Given the description of an element on the screen output the (x, y) to click on. 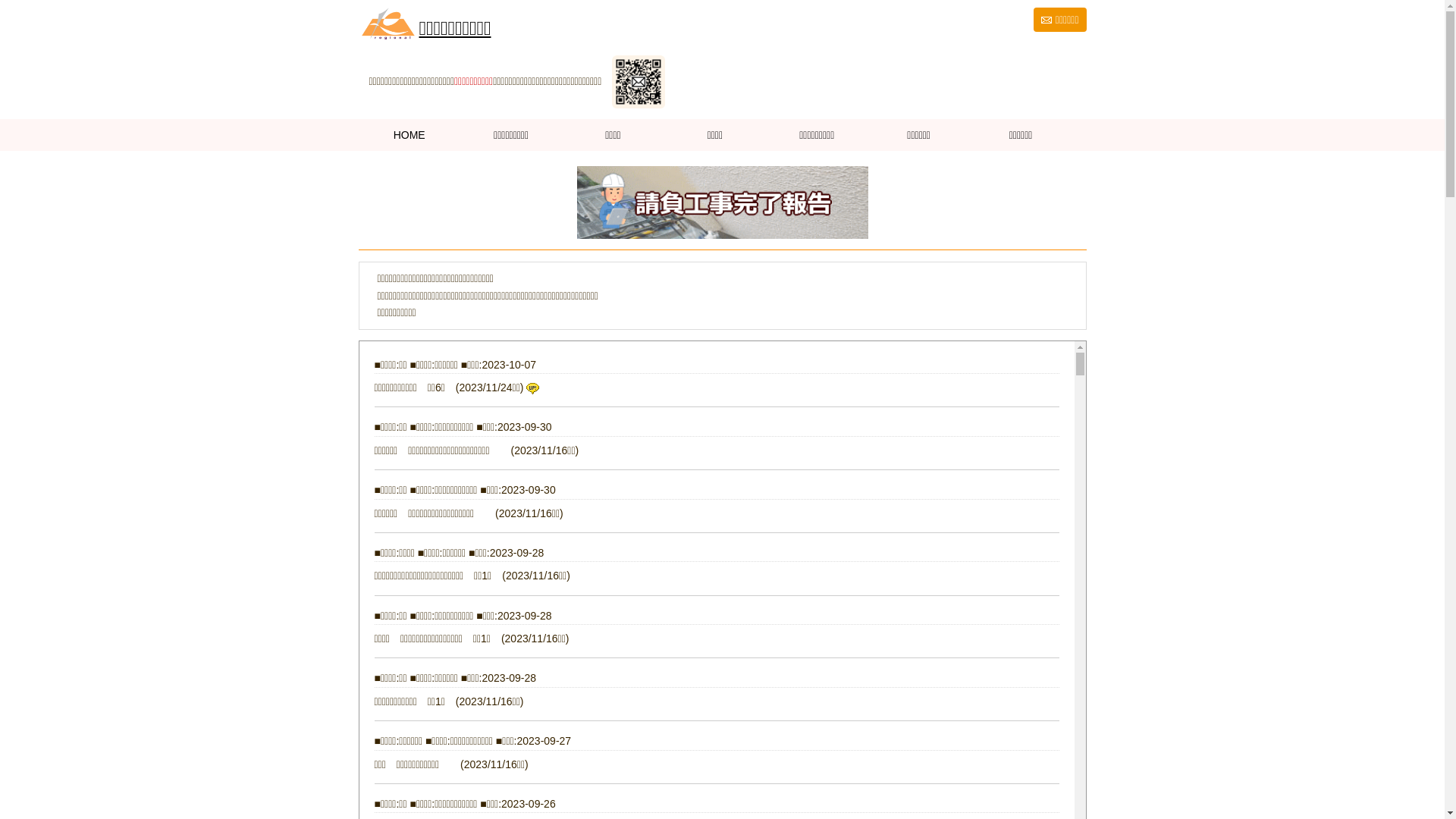
HOME Element type: text (408, 134)
